Given the description of an element on the screen output the (x, y) to click on. 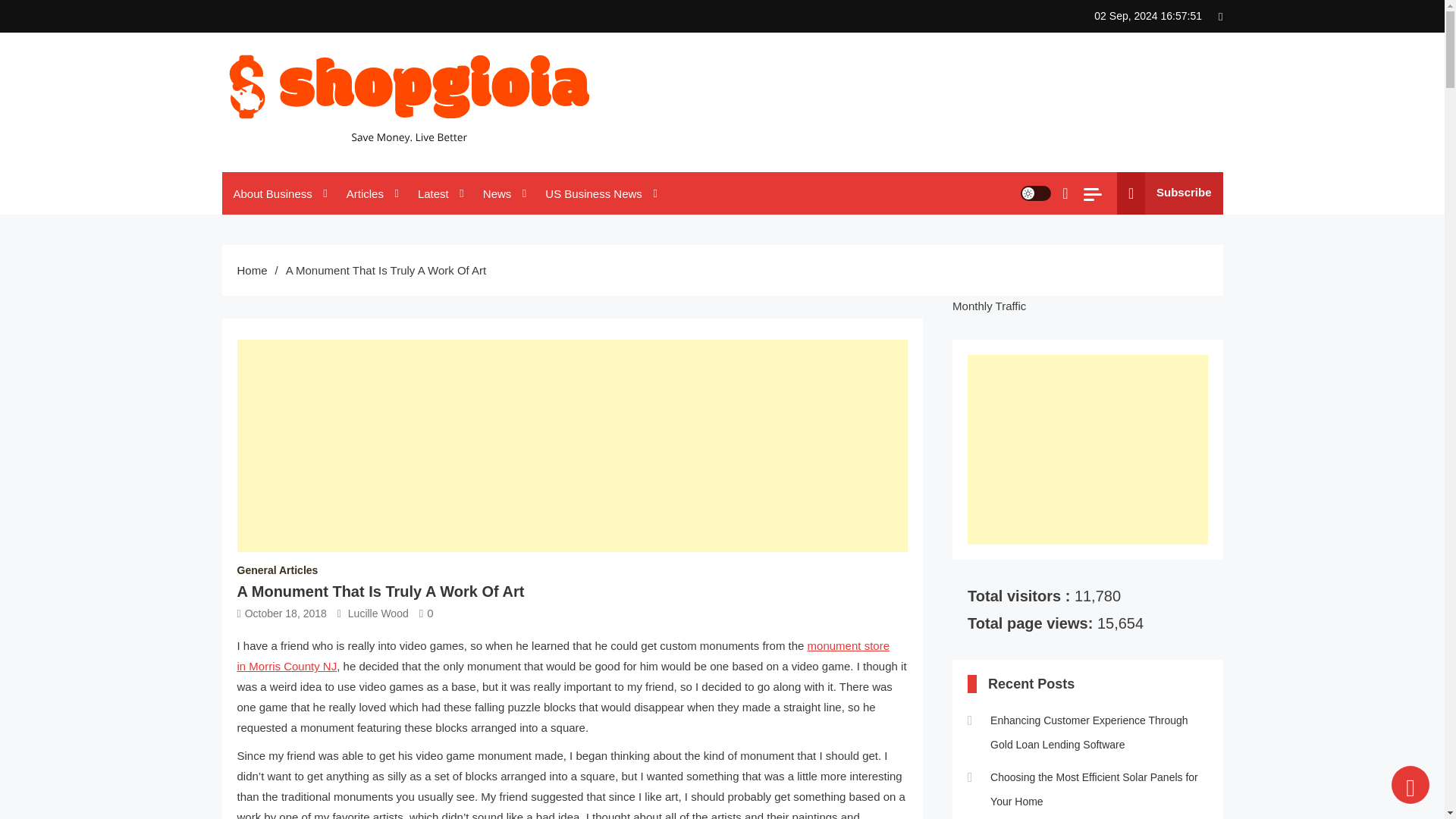
Shopgioia (276, 166)
US Business News (599, 193)
About Business (277, 193)
site mode button (1035, 192)
Latest (438, 193)
News (502, 193)
Search (1026, 251)
Articles (370, 193)
